Given the description of an element on the screen output the (x, y) to click on. 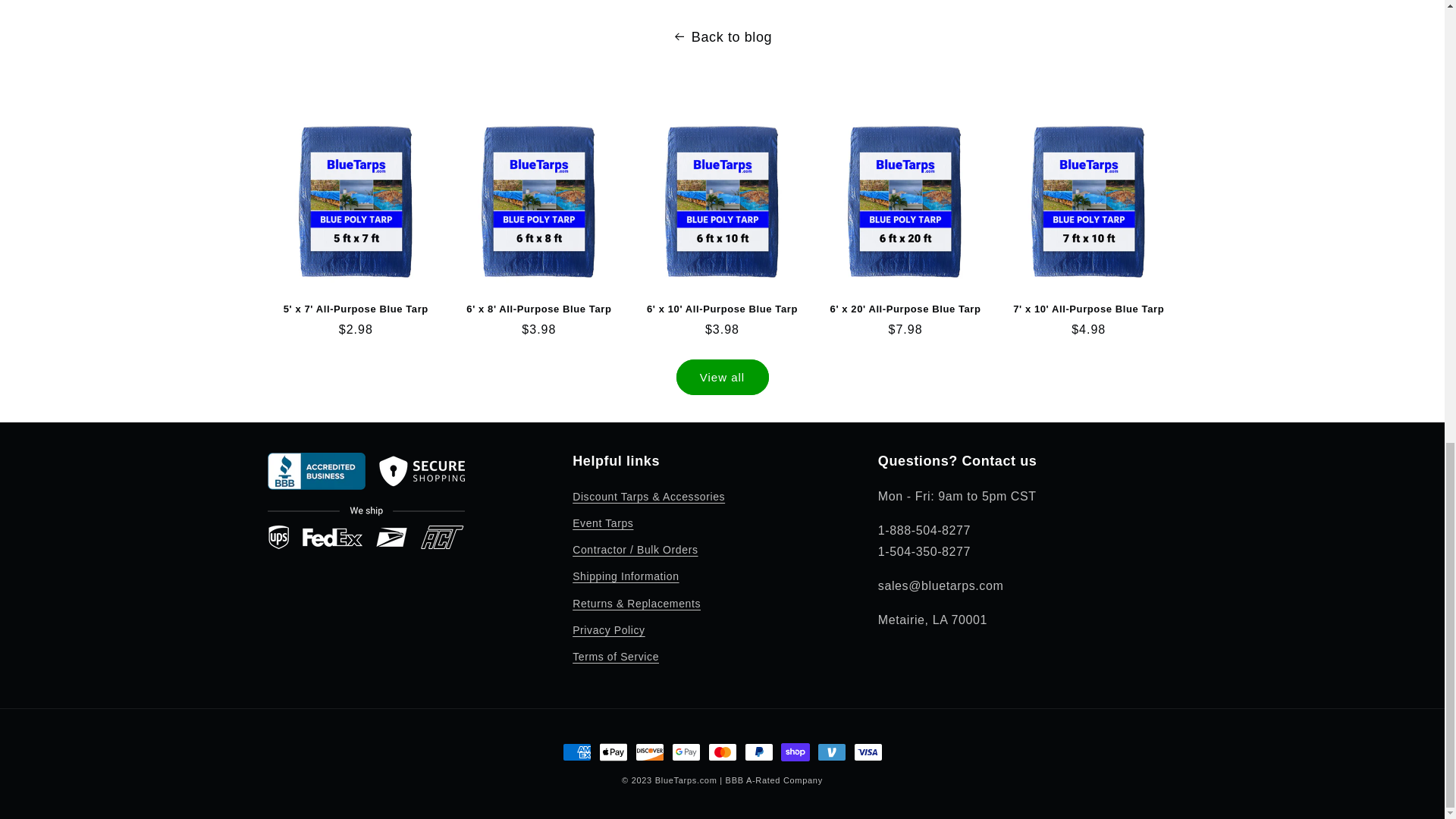
7' x 10' All-Purpose Blue Tarp (1088, 309)
Shipping Information (625, 576)
6' x 20' All-Purpose Blue Tarp (905, 309)
6' x 10' All-Purpose Blue Tarp (721, 309)
Privacy Policy (608, 630)
View all (722, 376)
Event Tarps (602, 523)
5' x 7' All-Purpose Blue Tarp (355, 309)
6' x 8' All-Purpose Blue Tarp (538, 309)
Terms of Service (615, 656)
